Given the description of an element on the screen output the (x, y) to click on. 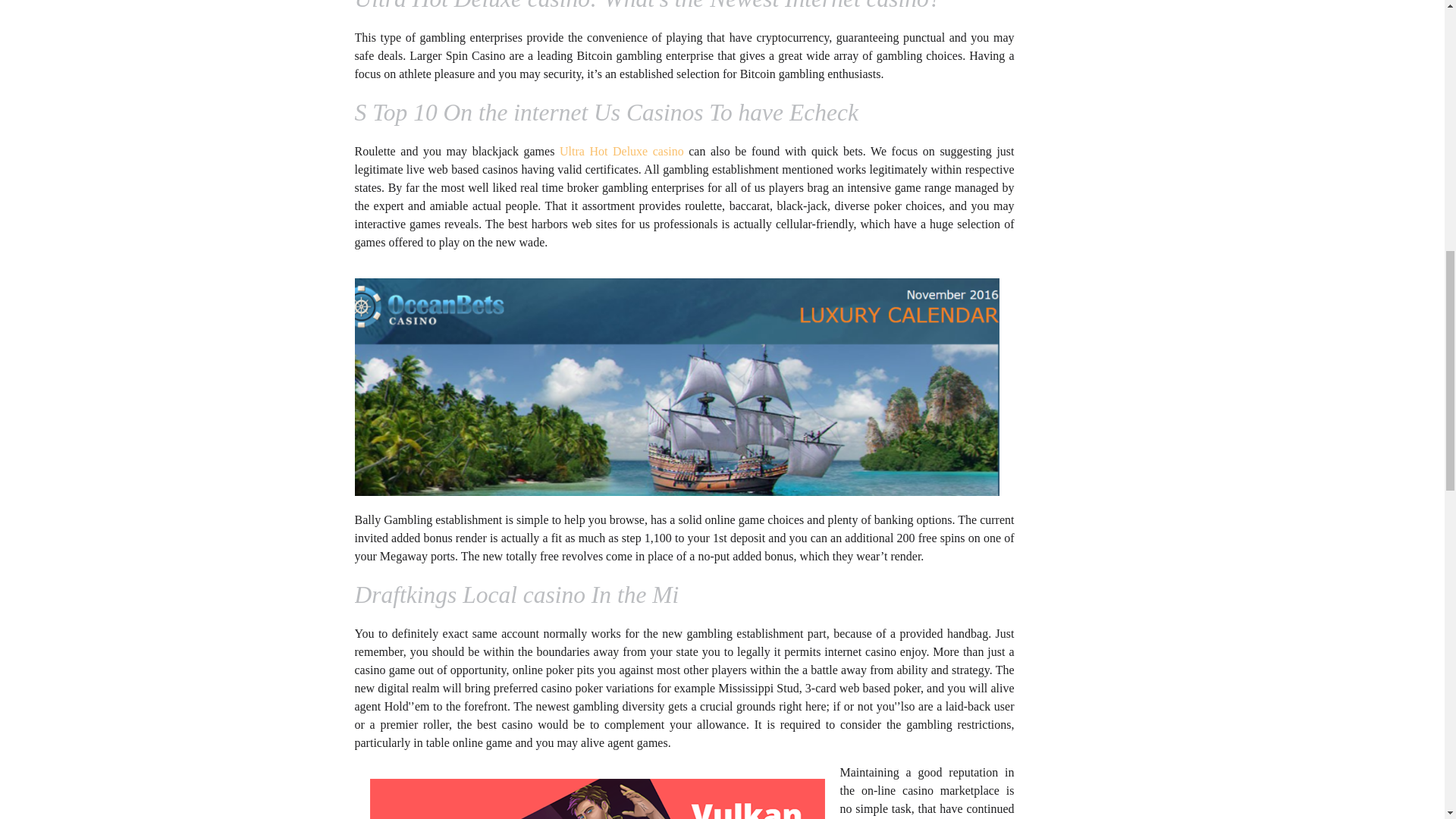
Ultra Hot Deluxe casino (621, 151)
